Given the description of an element on the screen output the (x, y) to click on. 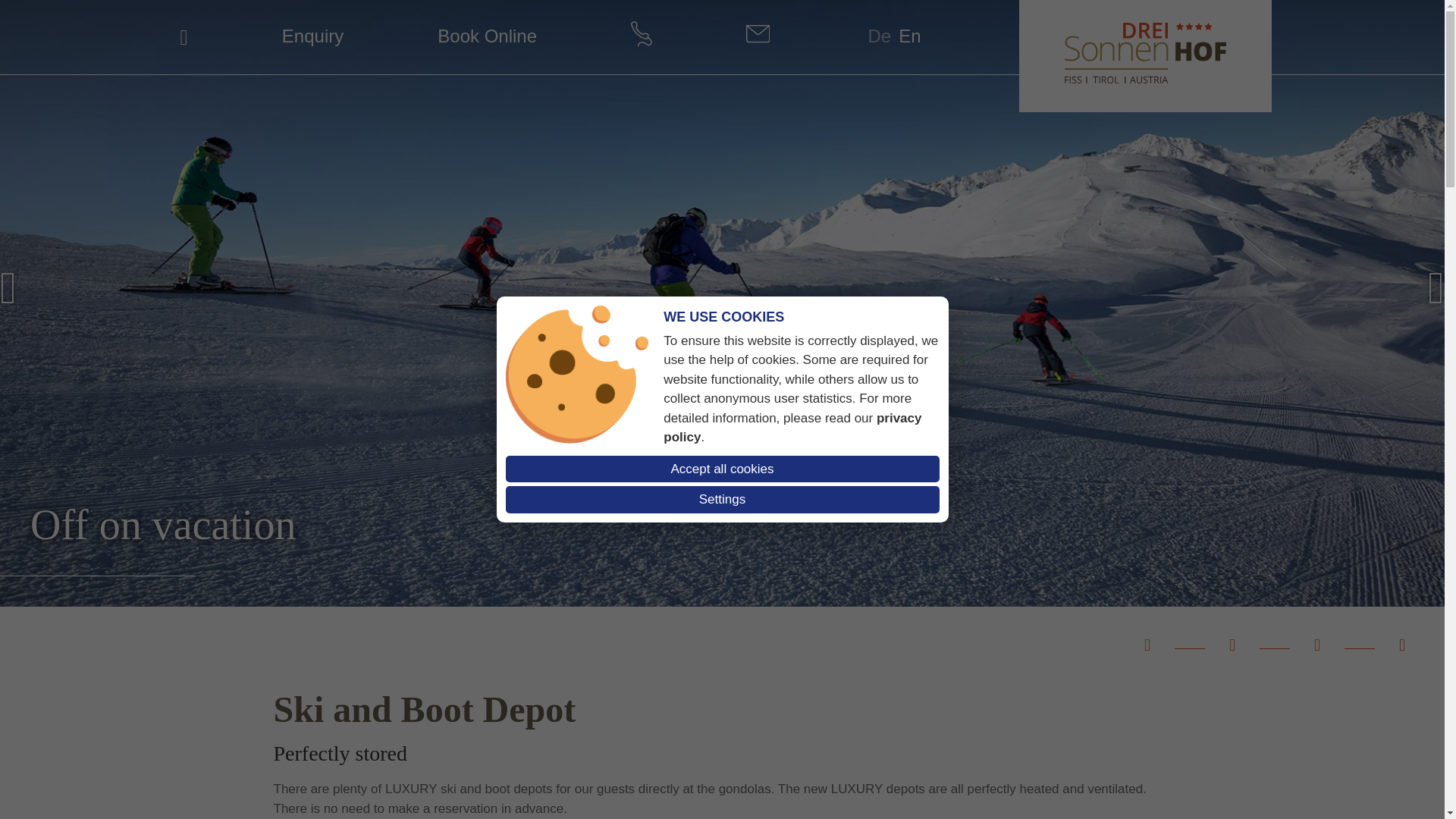
Facebook (1146, 648)
De (879, 35)
En (909, 35)
Enquiry (312, 35)
Photo Galleries (1232, 648)
Book Online (487, 35)
